Given the description of an element on the screen output the (x, y) to click on. 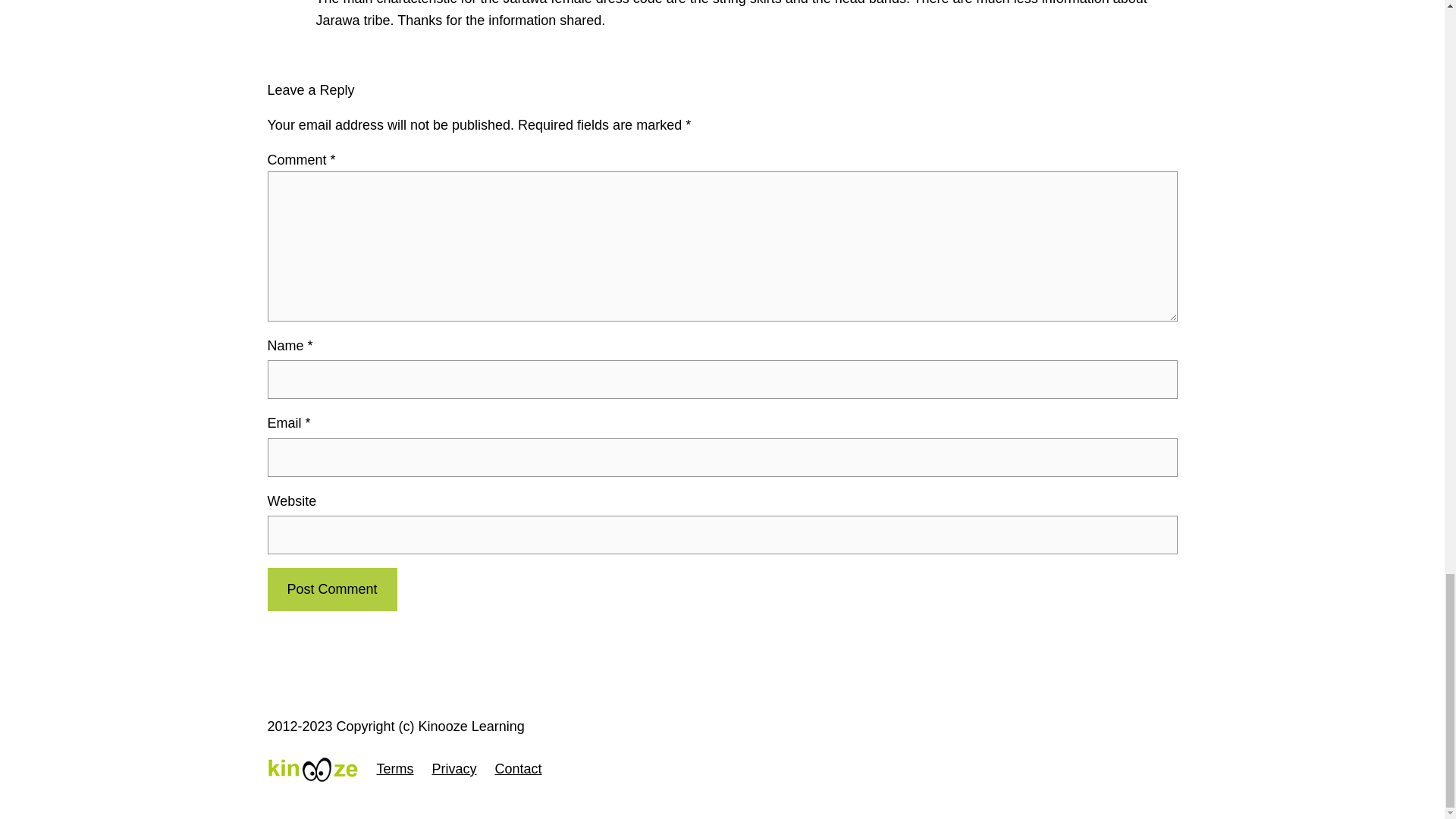
Post Comment (331, 589)
Terms (394, 768)
Privacy (454, 768)
Contact (518, 768)
Post Comment (331, 589)
